Given the description of an element on the screen output the (x, y) to click on. 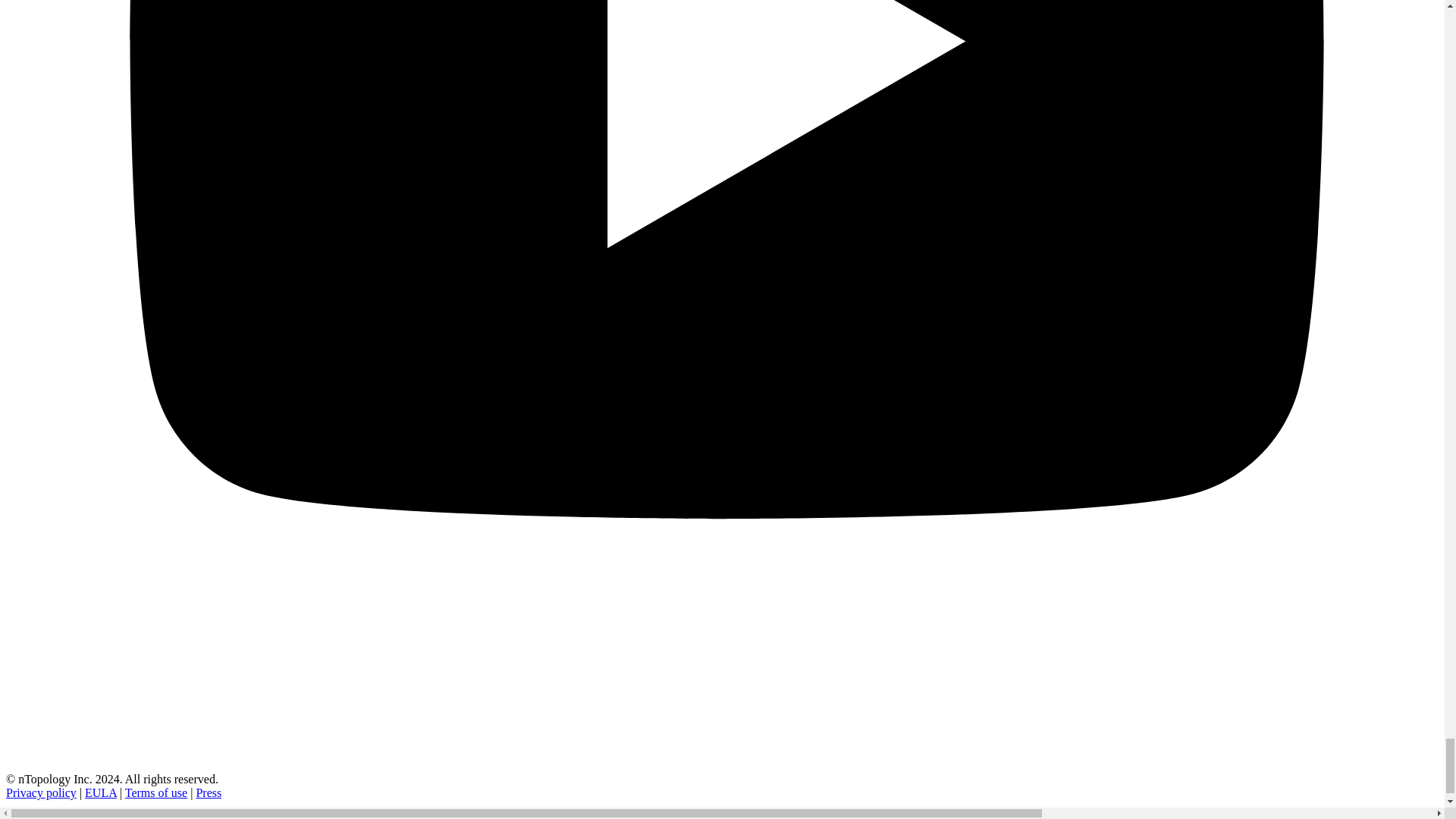
Terms of use (156, 792)
Privacy policy (41, 792)
EULA (100, 792)
Press (208, 792)
